Given the description of an element on the screen output the (x, y) to click on. 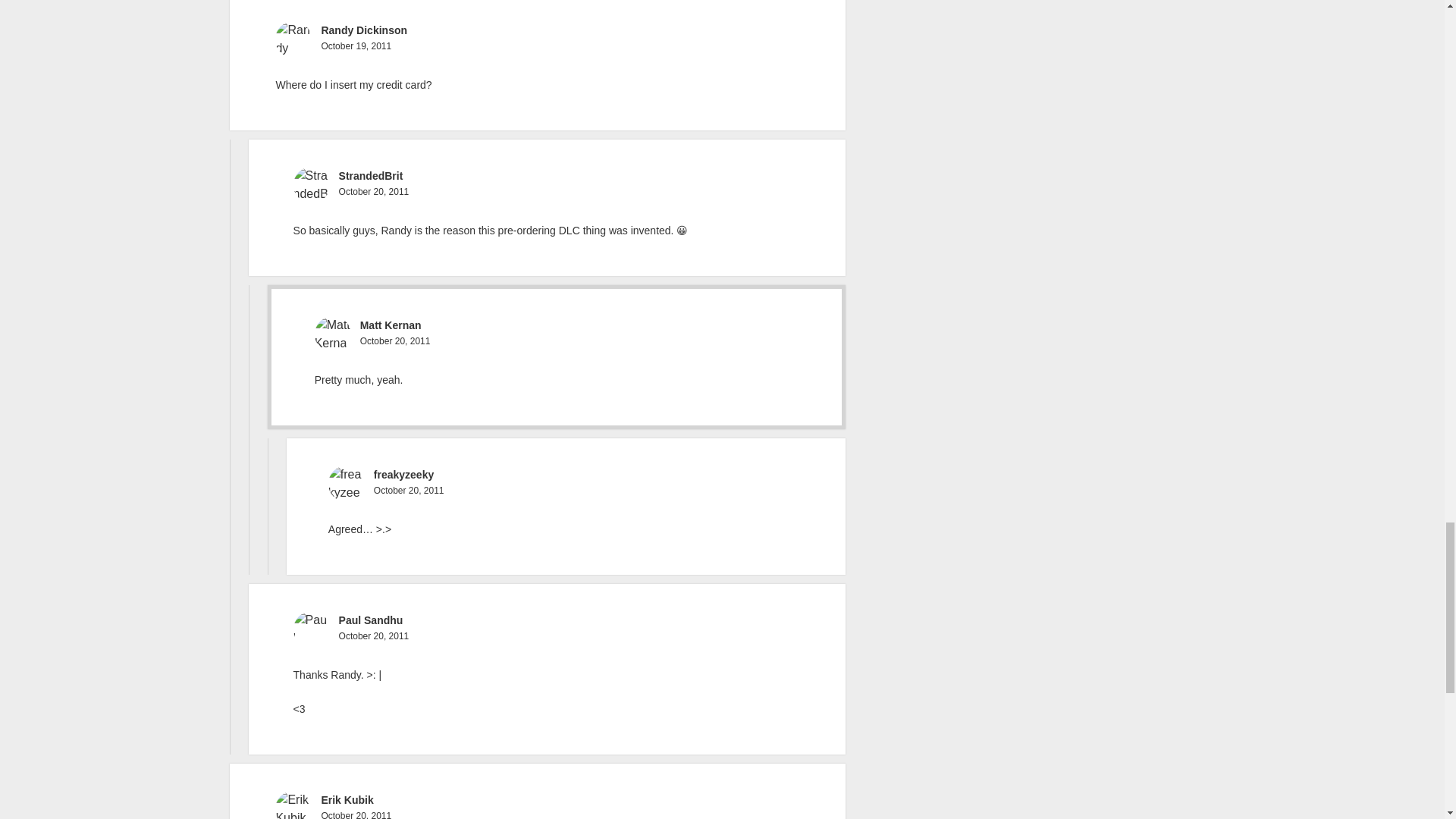
freakyzeeky (403, 474)
StrandedBrit (371, 175)
Matt Kernan (390, 325)
Erik Kubik (346, 799)
Paul Sandhu (371, 620)
Randy Dickinson (363, 30)
